Given the description of an element on the screen output the (x, y) to click on. 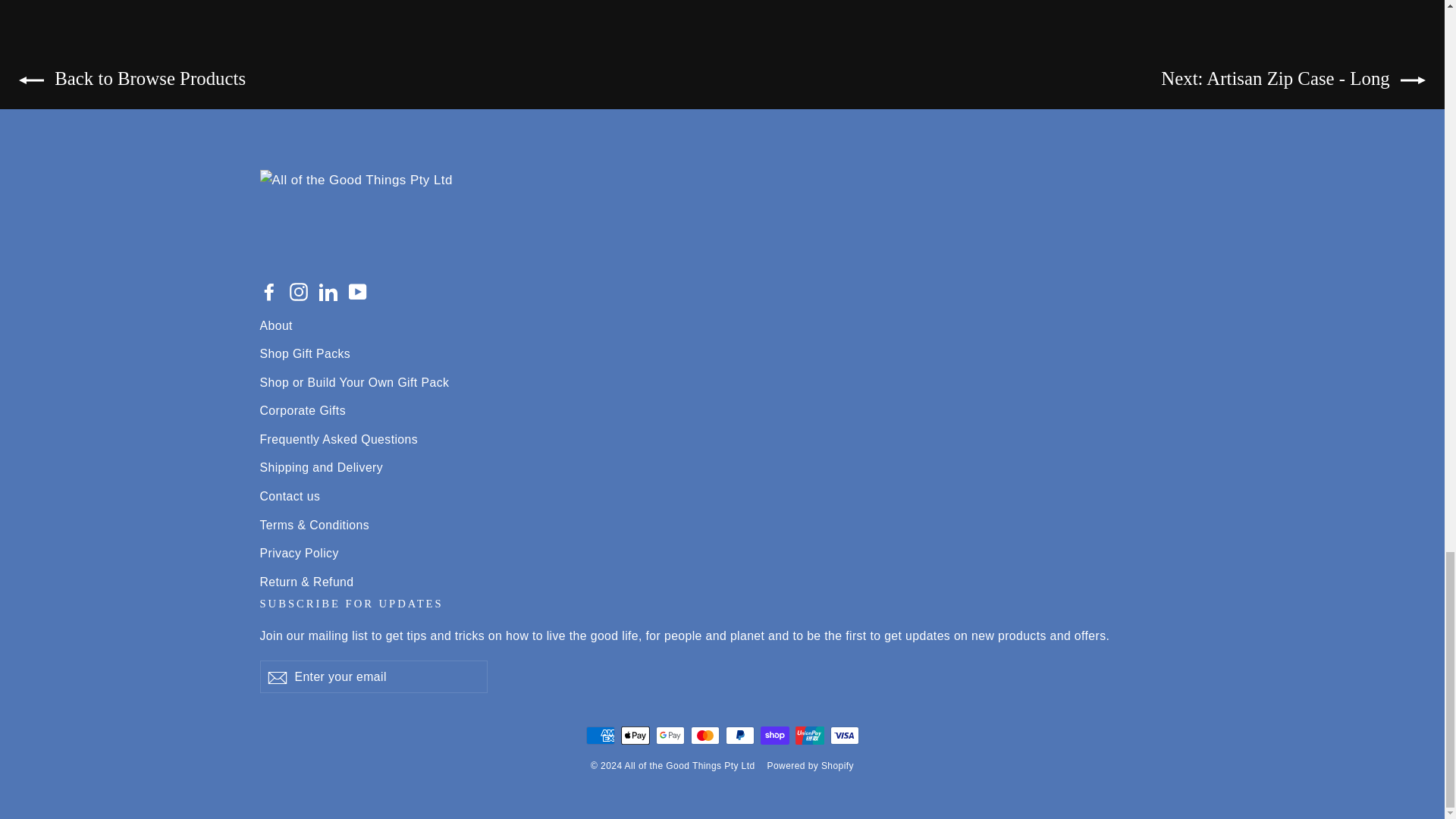
All of the Good Things Pty Ltd on YouTube (357, 291)
Google Pay (669, 735)
Mastercard (704, 735)
All of the Good Things Pty Ltd on Instagram (298, 291)
All of the Good Things Pty Ltd on LinkedIn (327, 291)
American Express (599, 735)
PayPal (739, 735)
Apple Pay (634, 735)
